Given the description of an element on the screen output the (x, y) to click on. 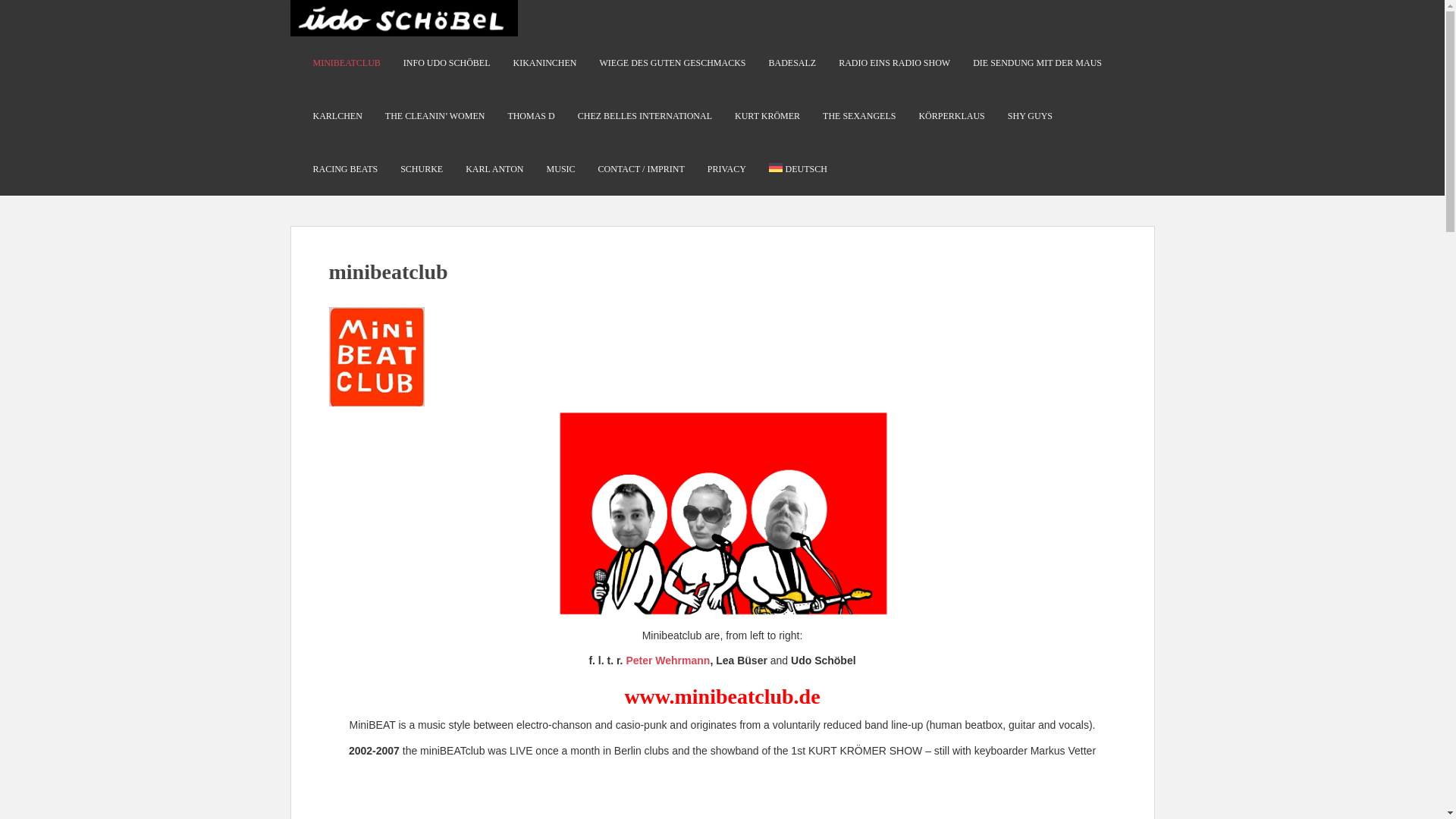
WIEGE DES GUTEN GESCHMACKS (672, 62)
MUSIC (561, 168)
KARLCHEN (337, 115)
THE SEXANGELS (858, 115)
RADIO EINS RADIO SHOW (894, 62)
Peter Wehrmann (668, 660)
KIKANINCHEN (544, 62)
www.minibeatclub.de (721, 696)
SCHURKE (421, 168)
CHEZ BELLES INTERNATIONAL (644, 115)
Deutsch (797, 168)
DEUTSCH (797, 168)
YouTube video player (721, 797)
DIE SENDUNG MIT DER MAUS (1037, 62)
SHY GUYS (1029, 115)
